Given the description of an element on the screen output the (x, y) to click on. 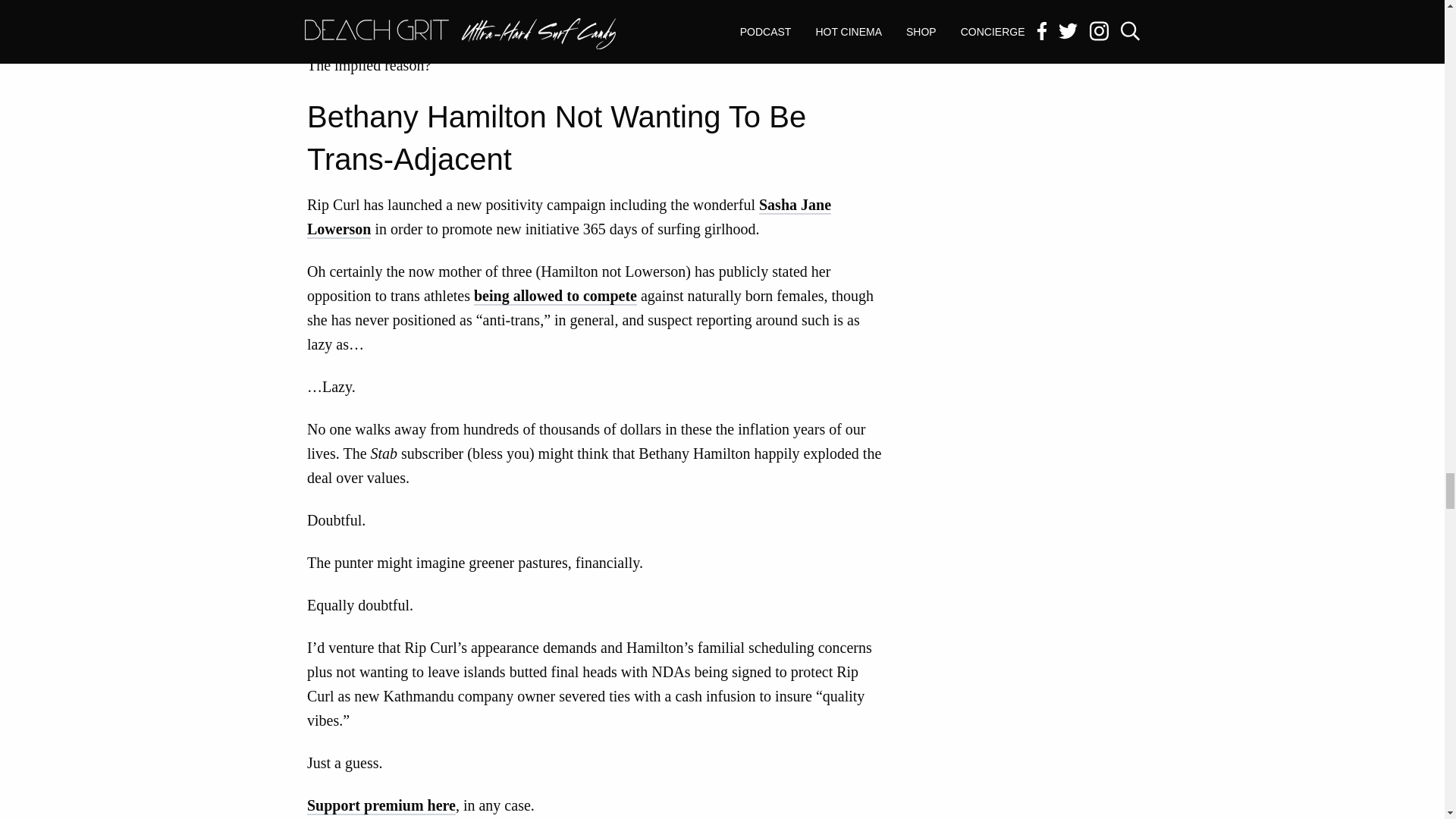
Support premium here (381, 805)
being allowed to compete (555, 296)
credit here (745, 23)
Sasha Jane Lowerson (569, 217)
